Given the description of an element on the screen output the (x, y) to click on. 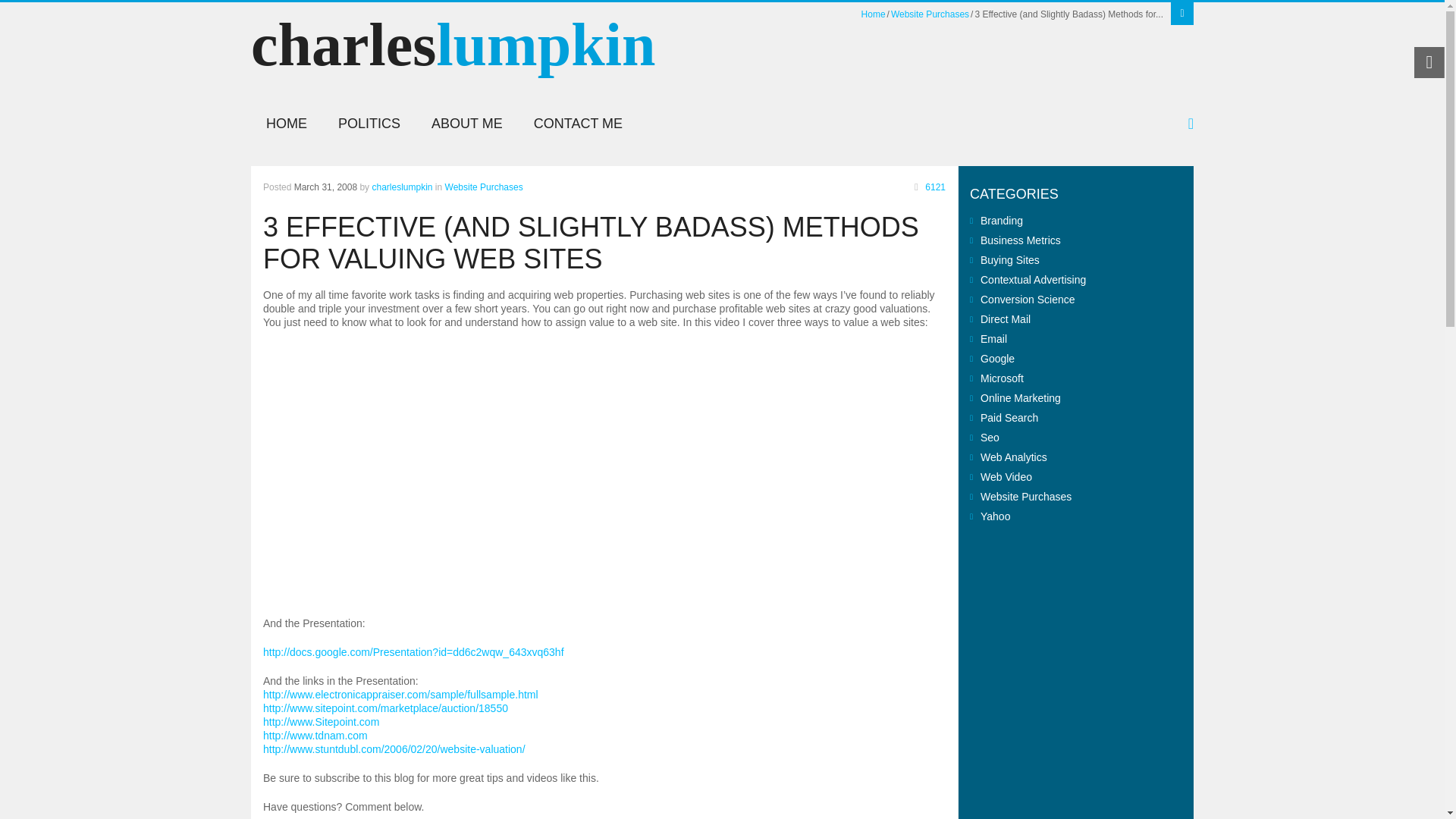
Branding (1001, 220)
Website Purchases (483, 186)
Home (873, 14)
ABOUT ME (467, 123)
CONTACT ME (577, 123)
HOME (285, 123)
POLITICS (368, 123)
Buying Sites (1009, 259)
6121 (927, 186)
charleslumpkin (401, 186)
charleslumpkin (452, 61)
Login (1181, 13)
Business Metrics (1020, 240)
Website Purchases (930, 14)
